Given the description of an element on the screen output the (x, y) to click on. 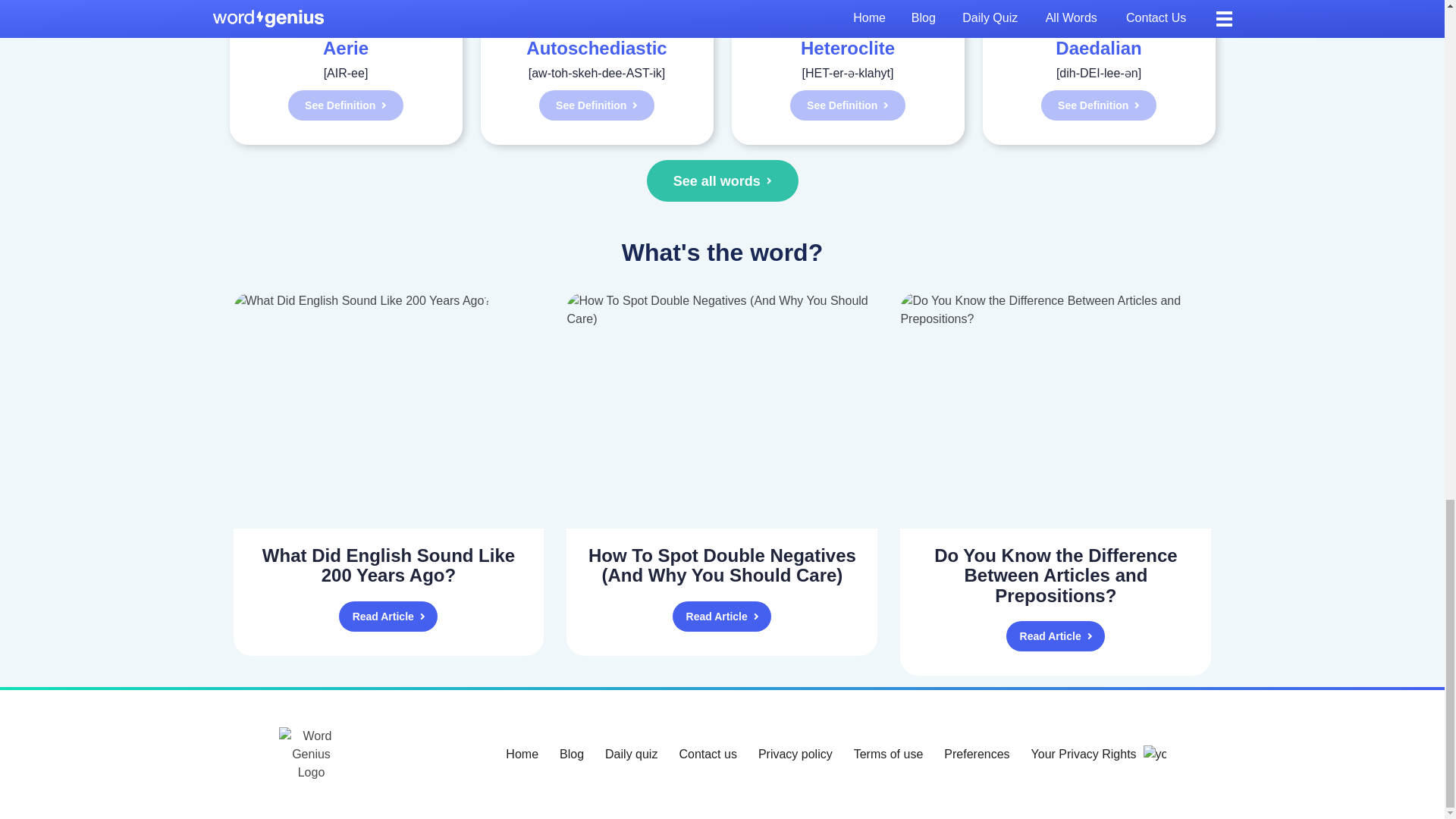
Terms of use (888, 755)
Read Article (1055, 635)
Contact us (707, 755)
See Definition (595, 105)
Home (521, 755)
Read Article (388, 616)
What Did English Sound Like 200 Years Ago? (388, 566)
See Definition (345, 105)
See Definition (847, 105)
